Given the description of an element on the screen output the (x, y) to click on. 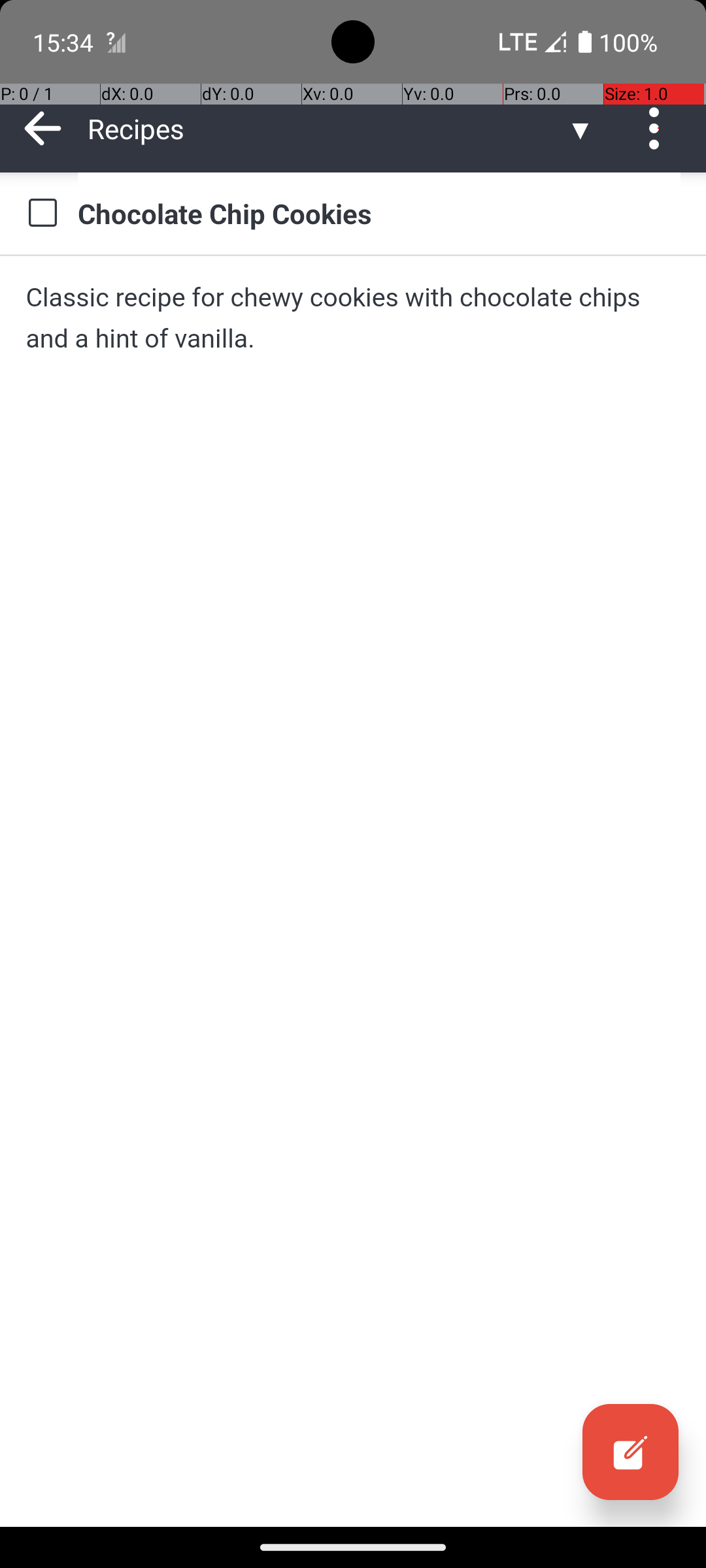
Chocolate Chip Cookies Element type: android.widget.EditText (378, 213)
Classic recipe for chewy cookies with chocolate chips and a hint of vanilla. Element type: android.widget.TextView (352, 317)
